Given the description of an element on the screen output the (x, y) to click on. 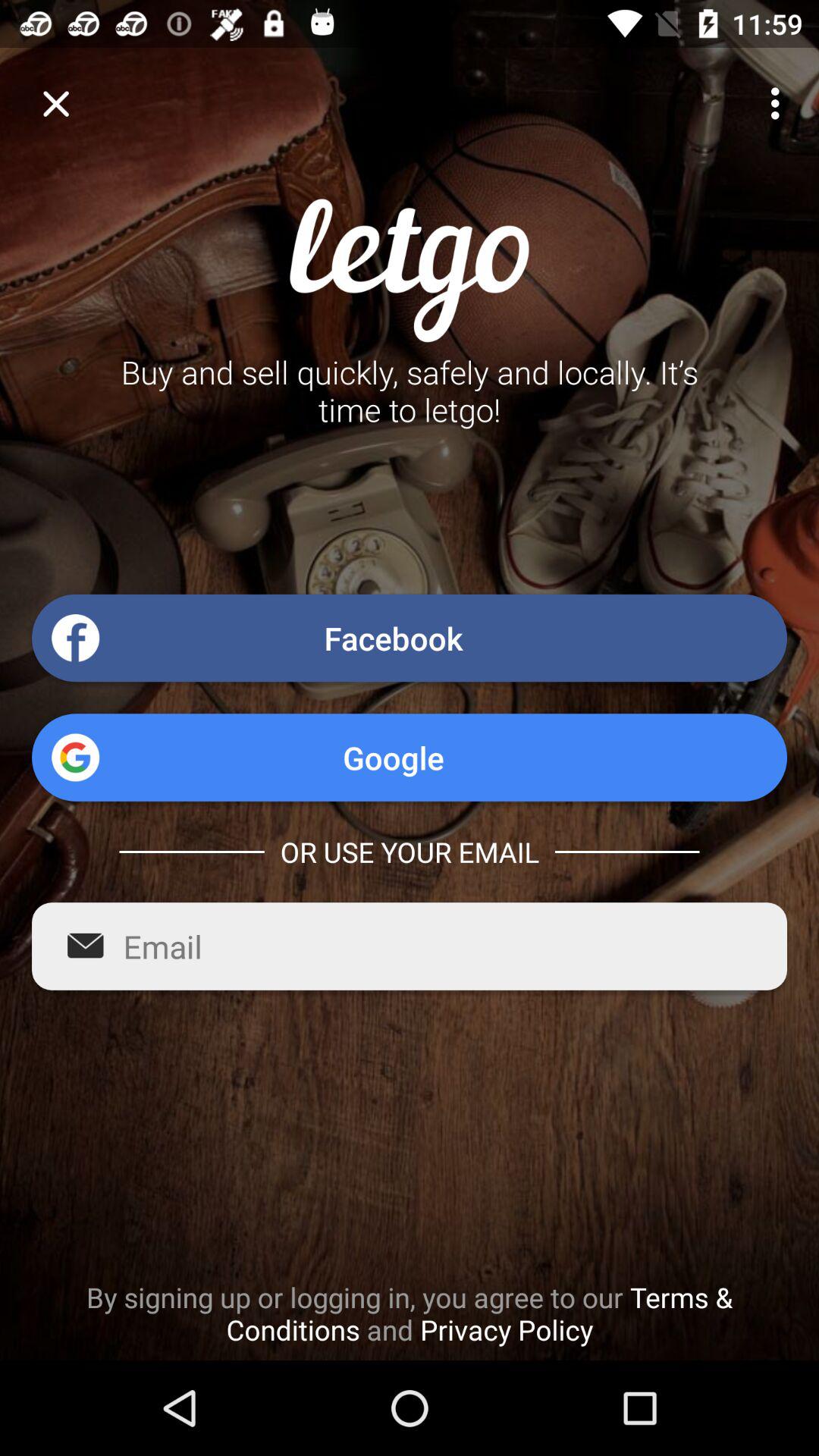
close window (55, 103)
